Given the description of an element on the screen output the (x, y) to click on. 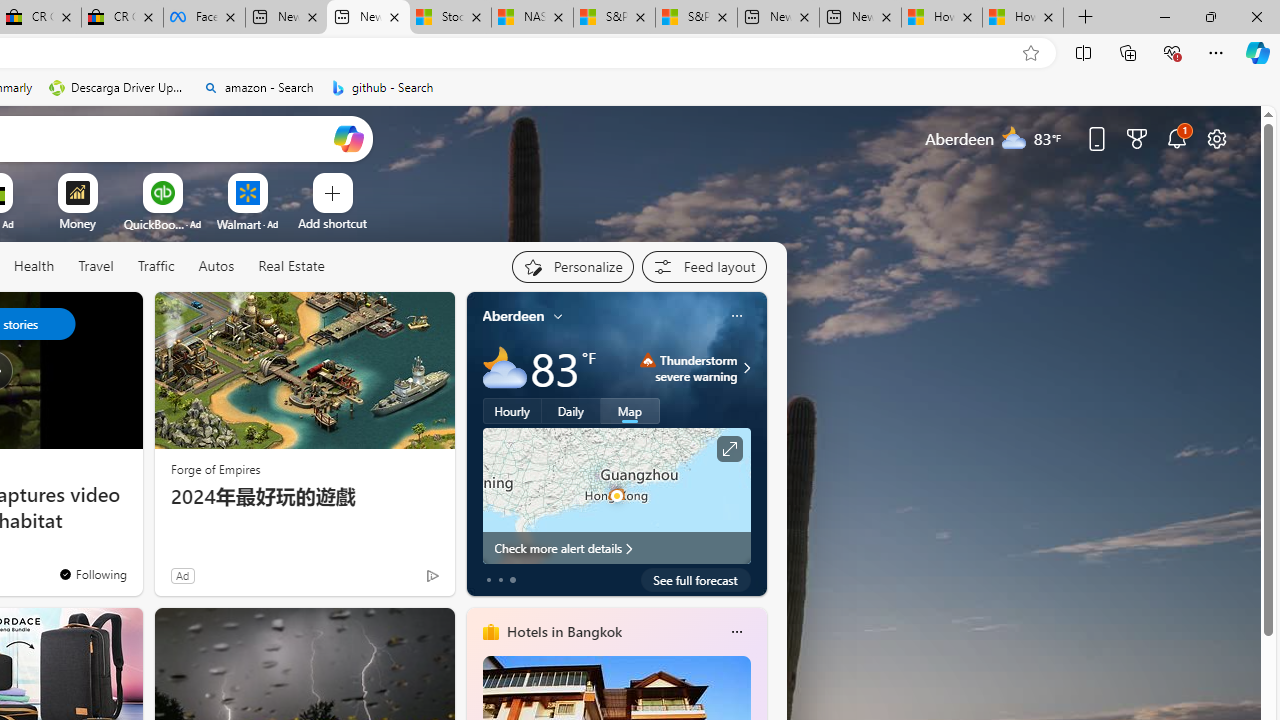
Map (630, 411)
See full forecast (695, 579)
Descarga Driver Updater (118, 88)
Real Estate (290, 267)
You're following FOX News (92, 573)
Real Estate (291, 265)
Ad (182, 575)
amazon - Search (258, 88)
Money (77, 223)
Autos (216, 267)
How to Use a Monitor With Your Closed Laptop (1023, 17)
Browser essentials (1171, 52)
